Given the description of an element on the screen output the (x, y) to click on. 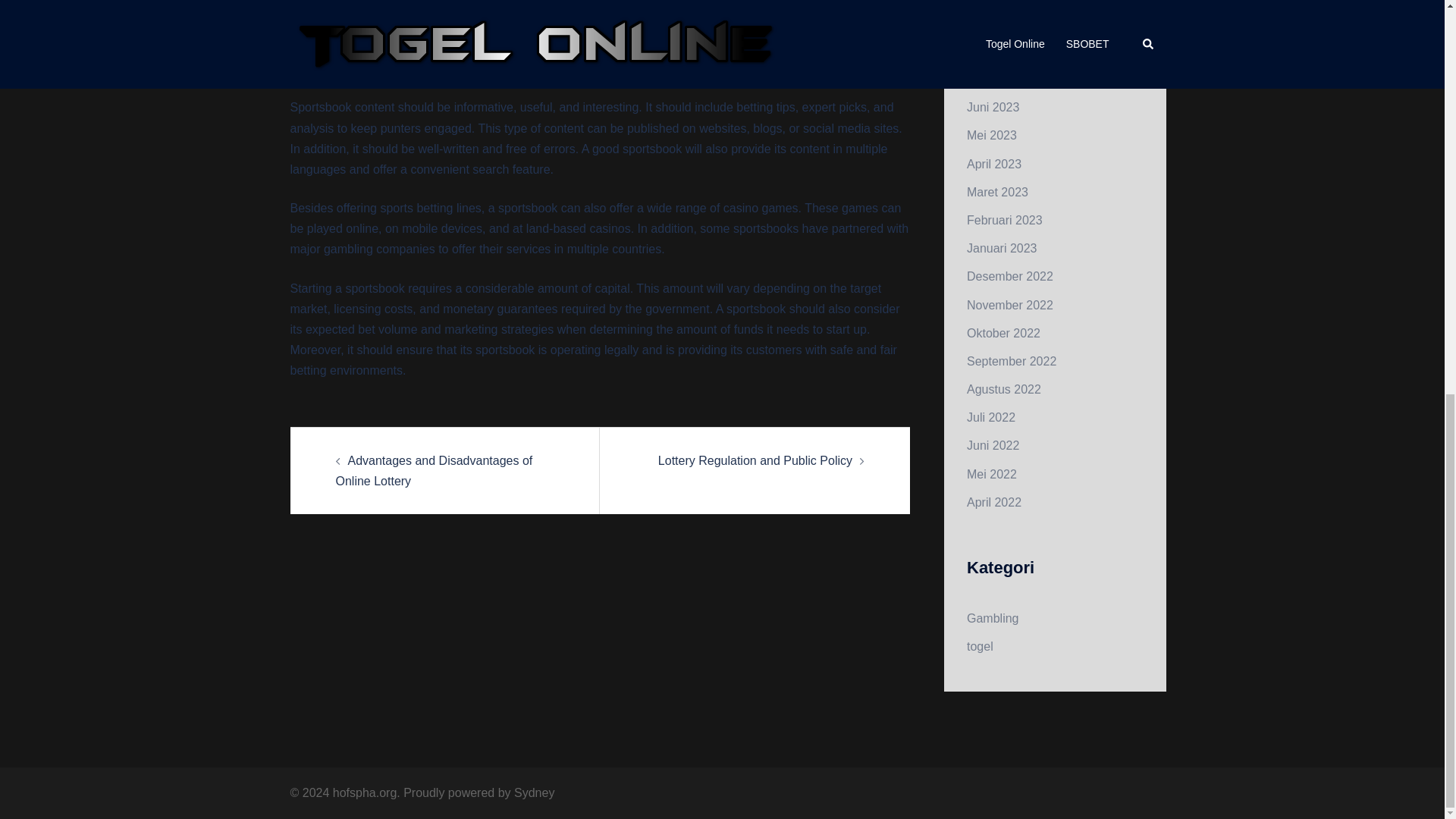
Juni 2023 (992, 106)
Februari 2023 (1004, 219)
Lottery Regulation and Public Policy (754, 460)
Mei 2023 (991, 134)
Agustus 2023 (1003, 51)
September 2023 (1011, 22)
Maret 2023 (996, 192)
April 2023 (994, 164)
Juli 2023 (990, 78)
